Given the description of an element on the screen output the (x, y) to click on. 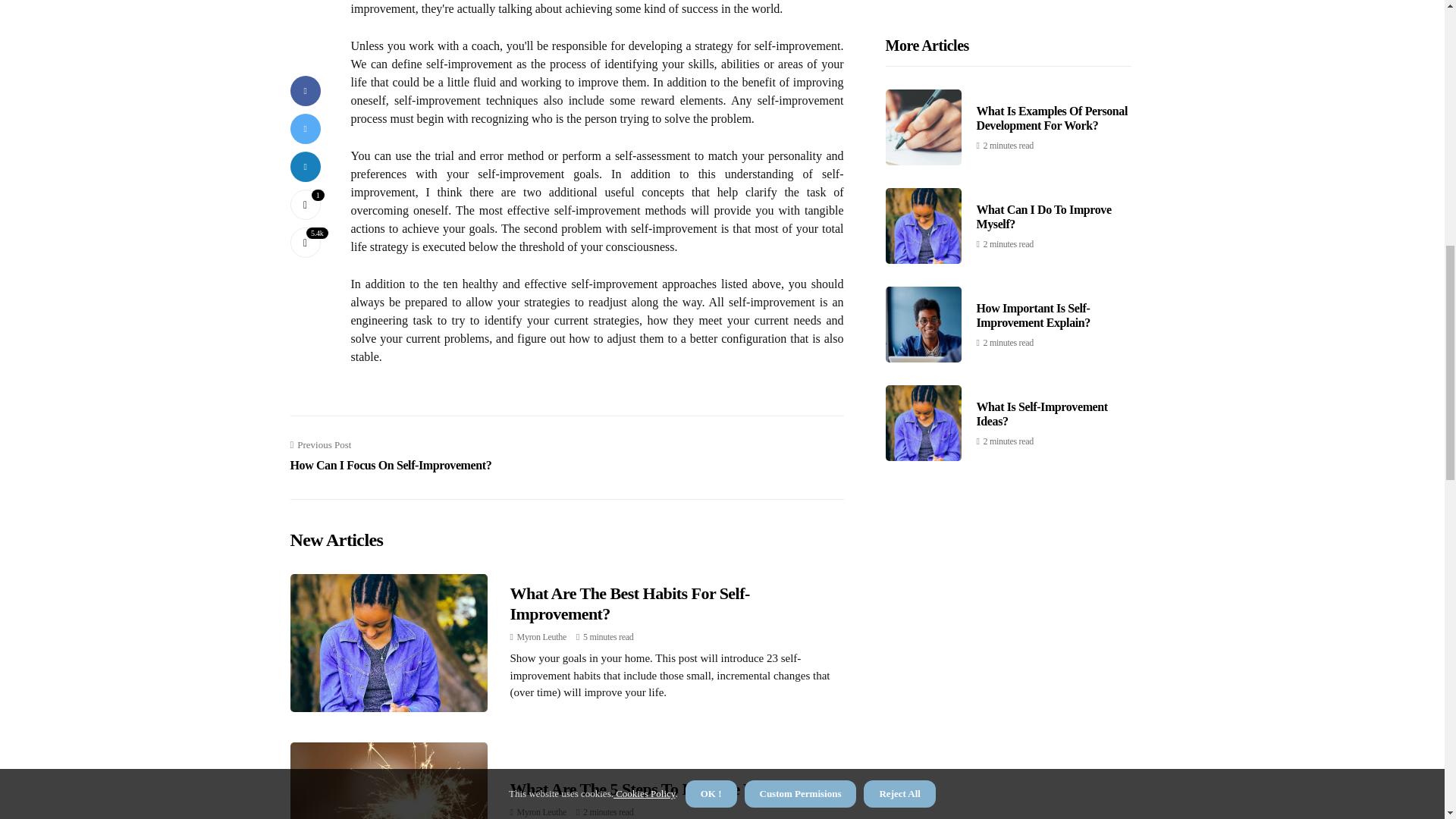
What Are The Best Habits For Self-Improvement? (629, 602)
Myron Leuthe (541, 811)
How Important Is Self-Improvement Explain? (1033, 33)
Posts by Myron Leuthe (541, 811)
Myron Leuthe (541, 636)
What Are The 5 Steps To Improve Yourself? (657, 788)
Posts by Myron Leuthe (541, 636)
